Given the description of an element on the screen output the (x, y) to click on. 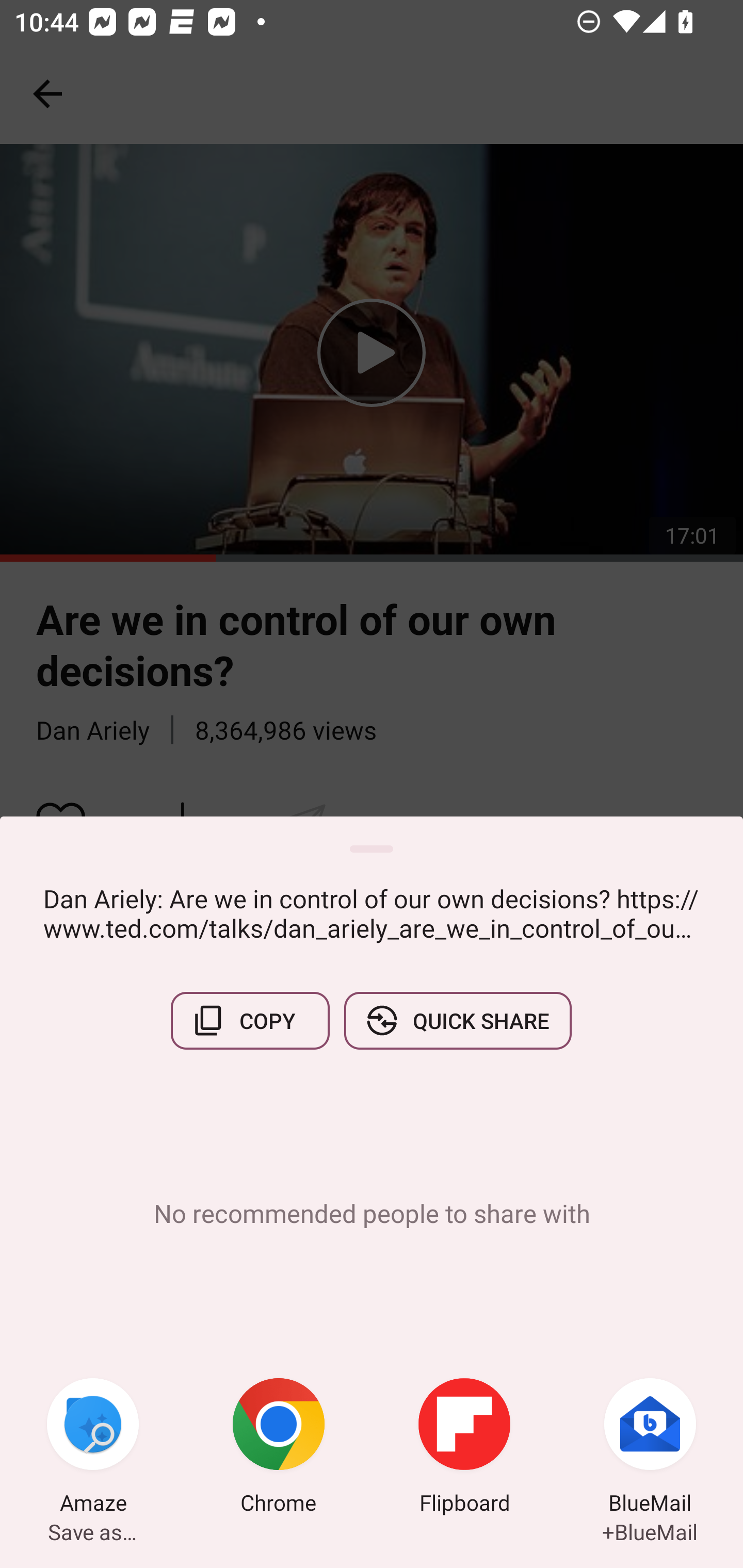
COPY (249, 1020)
QUICK SHARE (457, 1020)
Amaze Save as… (92, 1448)
Chrome (278, 1448)
Flipboard (464, 1448)
BlueMail +BlueMail (650, 1448)
